Given the description of an element on the screen output the (x, y) to click on. 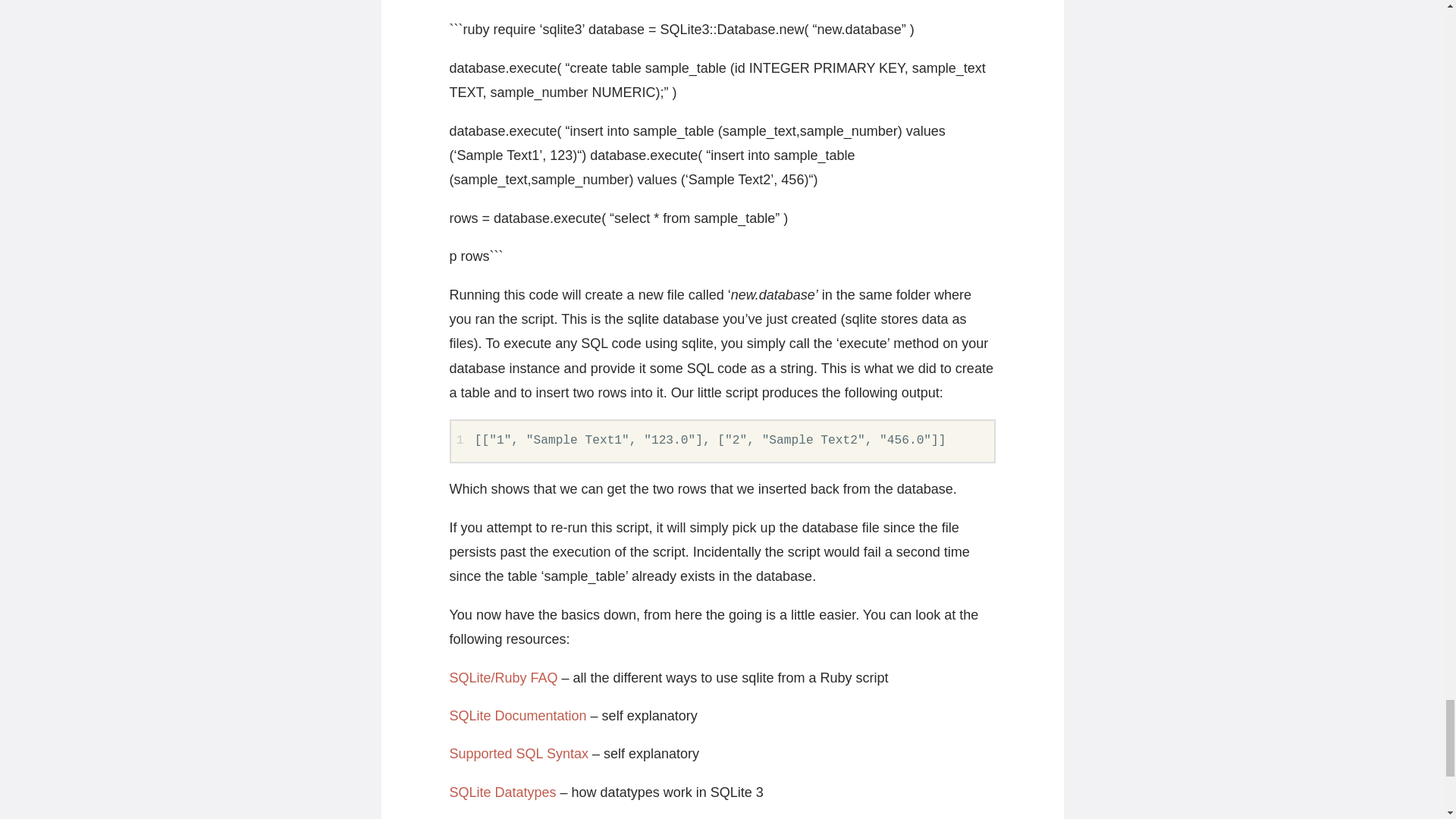
Supported SQL Syntax (518, 753)
SQLite Documentation (517, 715)
SQLite Datatypes (502, 792)
SQLite Ruby FAQ (502, 677)
SQLite Documentation (517, 715)
Supported SQL Syntax (518, 753)
SQLite Datatypes (502, 792)
